Given the description of an element on the screen output the (x, y) to click on. 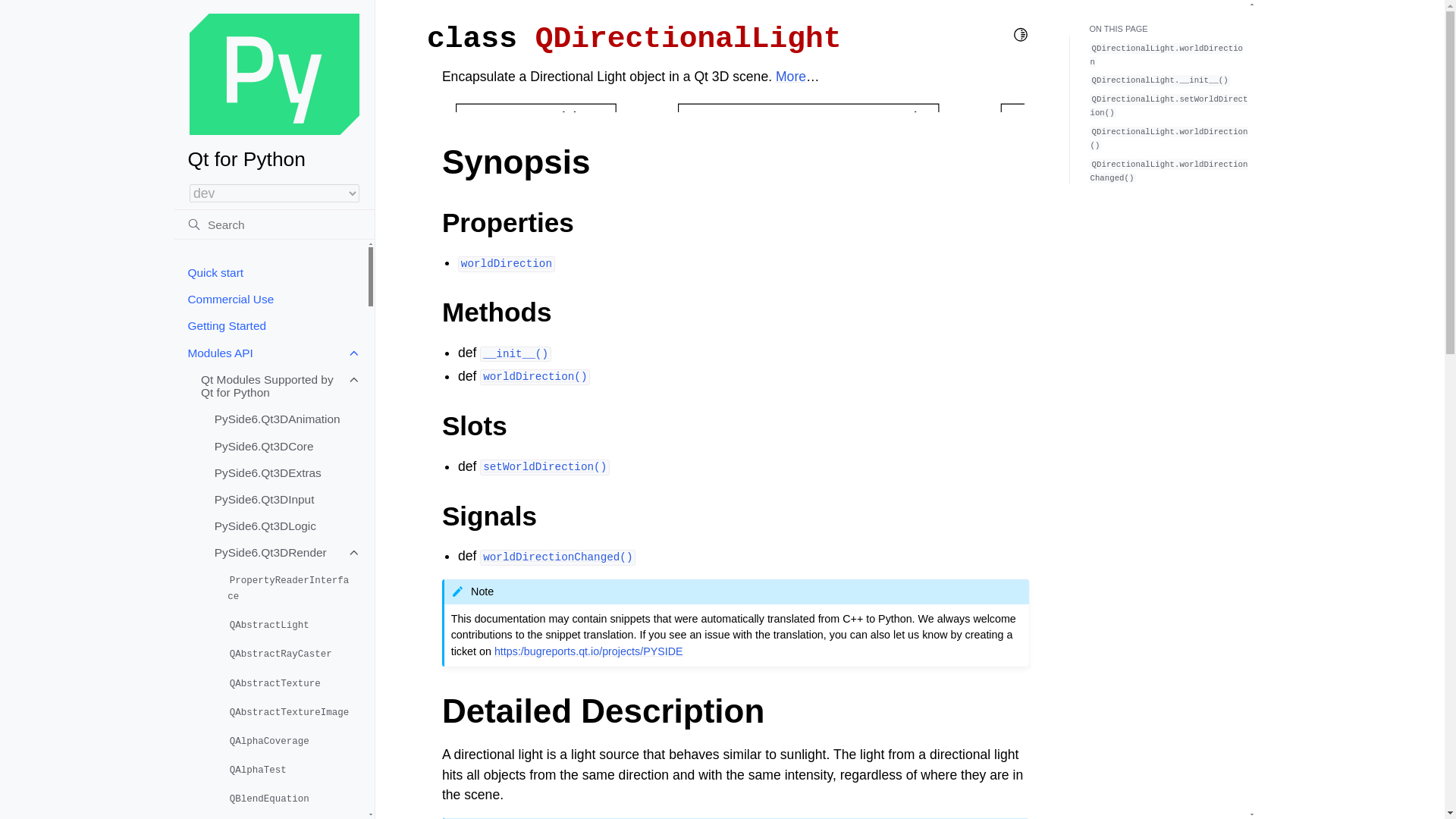
QAlphaTest (290, 769)
Modules API (270, 352)
PySide6.Qt3DInput (283, 499)
PySide6.Qt3DRender.QDirectionalLight.worldDirection (534, 376)
PySide6.Qt3DAnimation (283, 419)
QAbstractTextureImage (290, 711)
PropertyReaderInterface (290, 588)
QAlphaCoverage (290, 740)
Qt Modules Supported by Qt for Python (276, 386)
QBlendEquationArguments (290, 816)
